Given the description of an element on the screen output the (x, y) to click on. 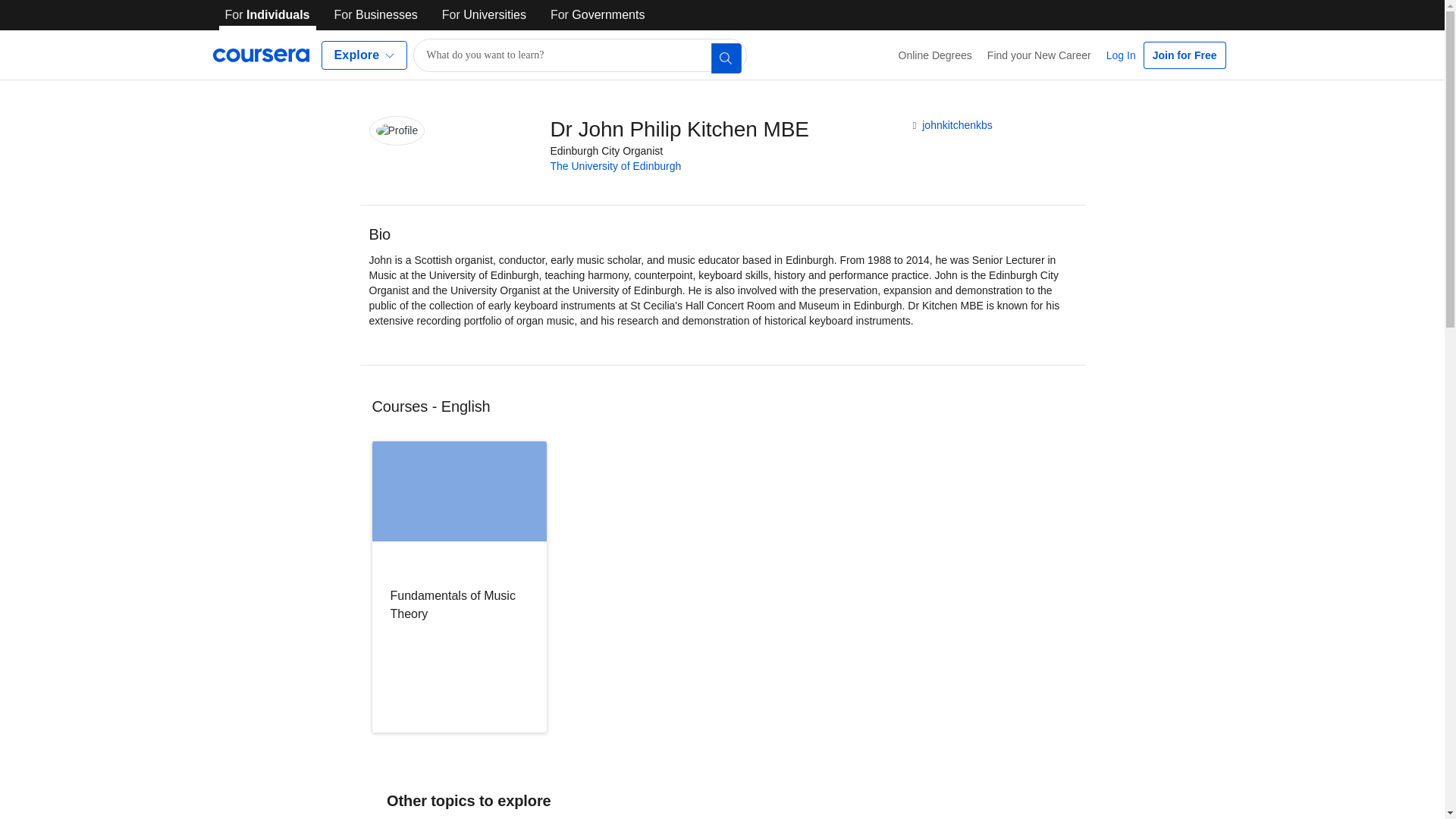
Find your New Career (1039, 54)
For Universities (483, 15)
For Governments (597, 15)
johnkitchenkbs (956, 124)
For Individuals (266, 15)
Online Degrees (935, 54)
Log In (1120, 54)
Explore (364, 54)
Join for Free (1183, 53)
The University of Edinburgh (615, 165)
For Businesses (376, 15)
